Given the description of an element on the screen output the (x, y) to click on. 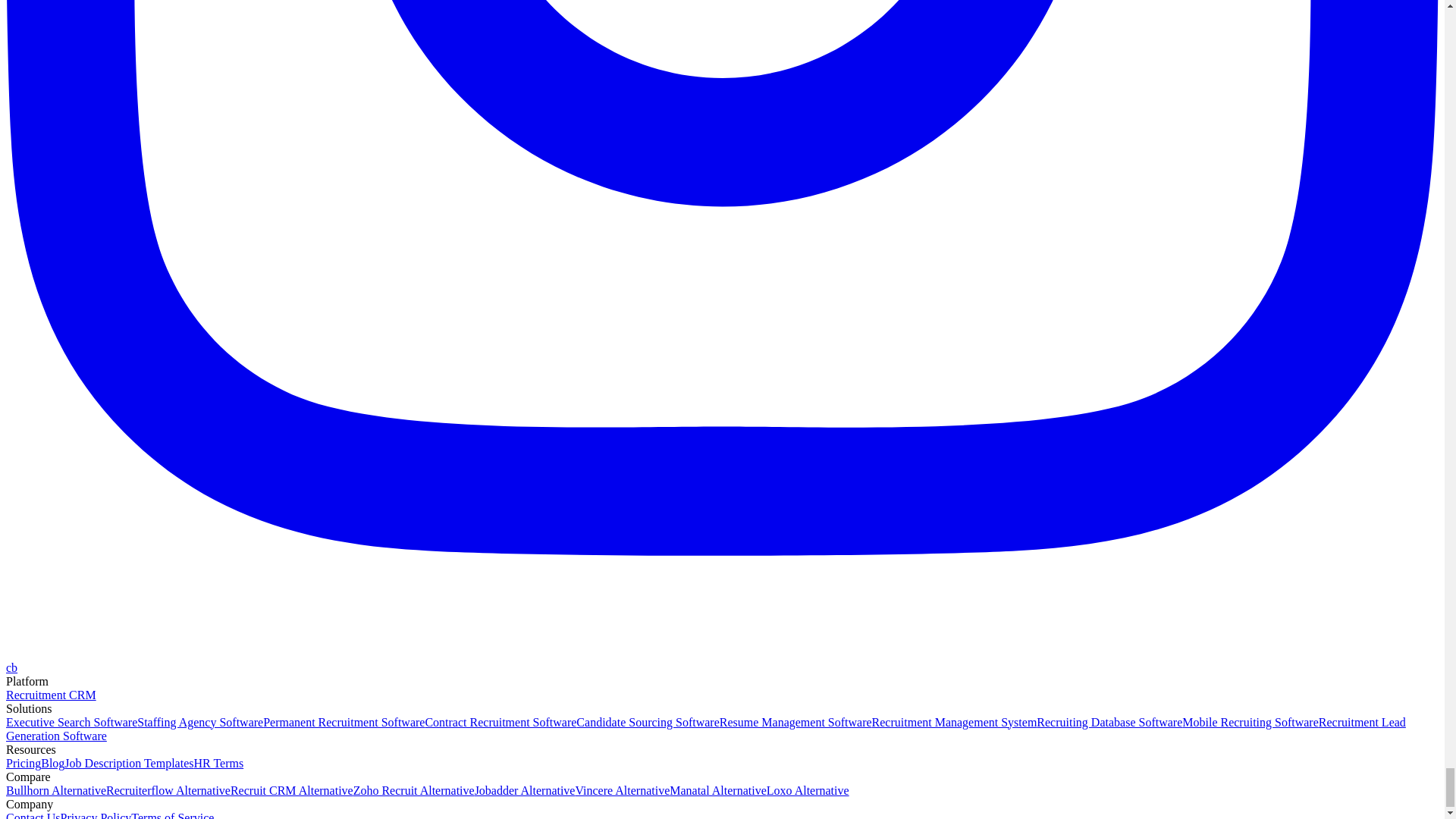
Resume Management Software (795, 721)
HR Terms (218, 762)
Pricing (22, 762)
Blog (52, 762)
Executive Search Software (70, 721)
Recruitment Management System (954, 721)
Mobile Recruiting Software (1250, 721)
Zoho Recruit Alternative (413, 789)
Bullhorn Alternative (55, 789)
cb (11, 667)
Permanent Recruitment Software (344, 721)
Recruiterflow Alternative (168, 789)
Recruiting Database Software (1109, 721)
Job Description Templates (128, 762)
Candidate Sourcing Software (647, 721)
